Given the description of an element on the screen output the (x, y) to click on. 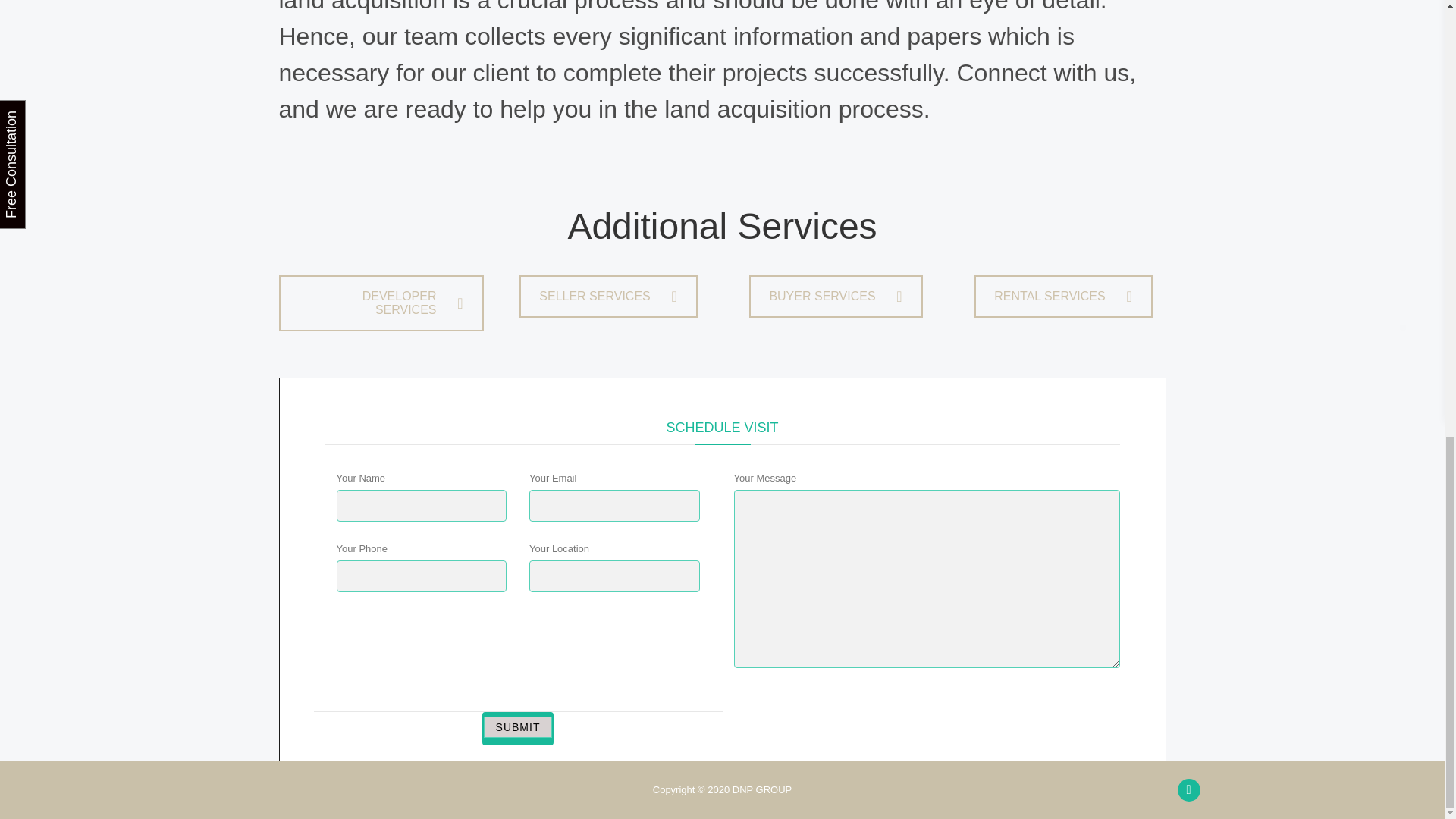
RENTAL SERVICES (1062, 296)
SELLER SERVICES (608, 296)
DEVELOPER SERVICES (381, 303)
Submit (518, 726)
Submit (518, 726)
BUYER SERVICES (835, 296)
